Given the description of an element on the screen output the (x, y) to click on. 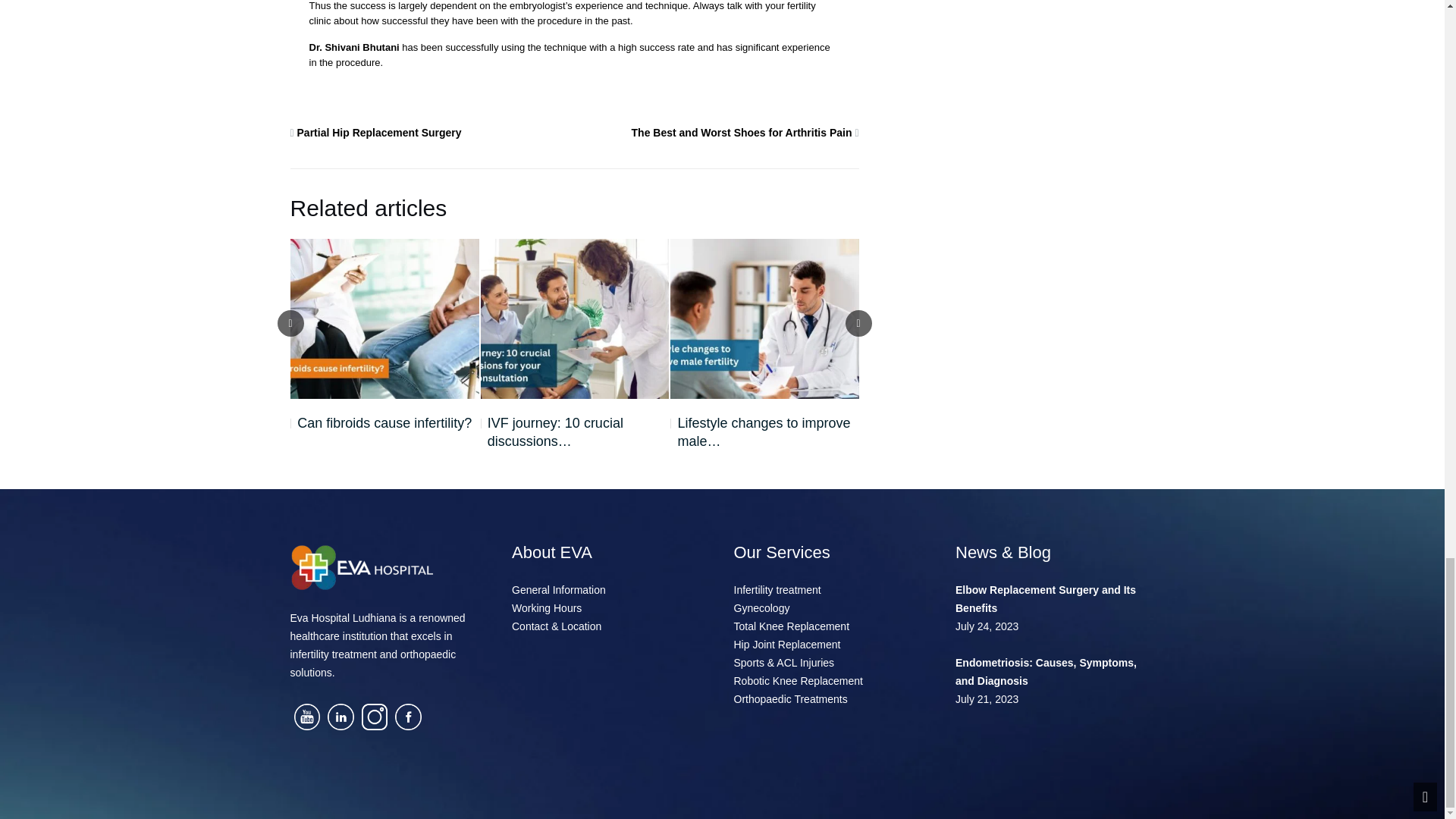
Dr. Shivani Bhutani (353, 47)
Partial Hip Replacement Surgery (379, 132)
The Best and Worst Shoes for Arthritis Pain (741, 132)
Can fibroids cause infertility? (380, 423)
